Given the description of an element on the screen output the (x, y) to click on. 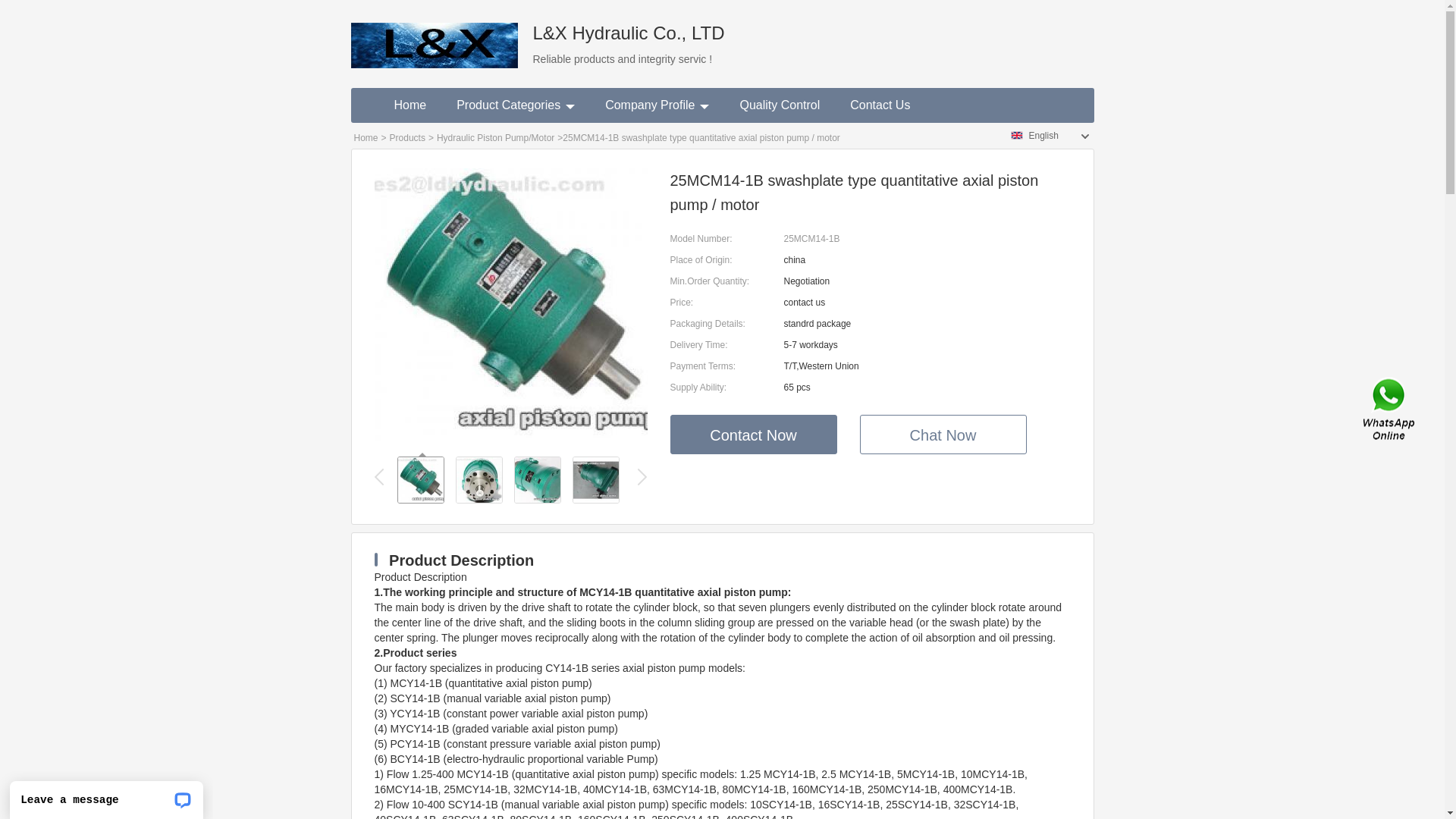
Contact Us Element type: hover (1389, 409)
Home Element type: text (410, 104)
Contact Now Element type: text (753, 434)
Products Element type: text (407, 137)
Quality Control Element type: text (779, 104)
L&X Hydraulic Co., LTD Element type: hover (433, 34)
Company Profile Element type: text (656, 104)
Hydraulic Piston Pump/Motor Element type: text (495, 137)
Product Categories Element type: text (515, 104)
Chat Now Element type: text (942, 434)
Contact Us Element type: text (879, 104)
Home Element type: text (365, 137)
